Given the description of an element on the screen output the (x, y) to click on. 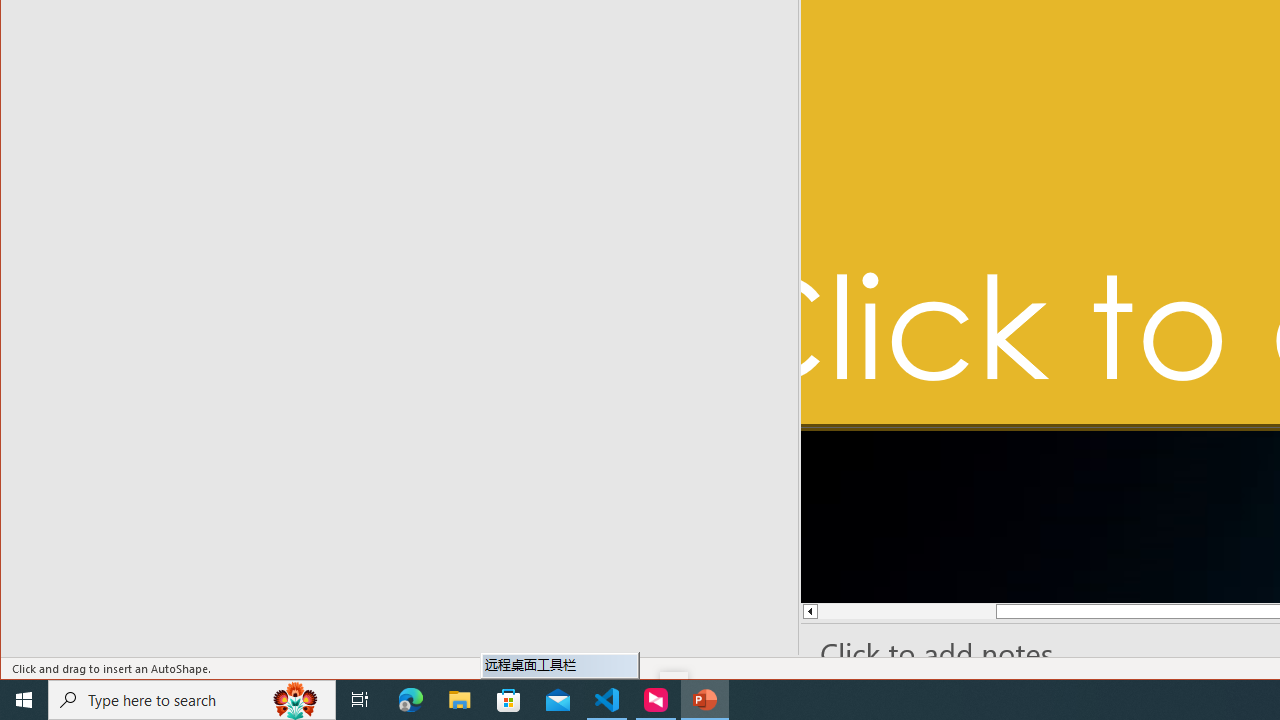
Microsoft Edge (411, 699)
